Given the description of an element on the screen output the (x, y) to click on. 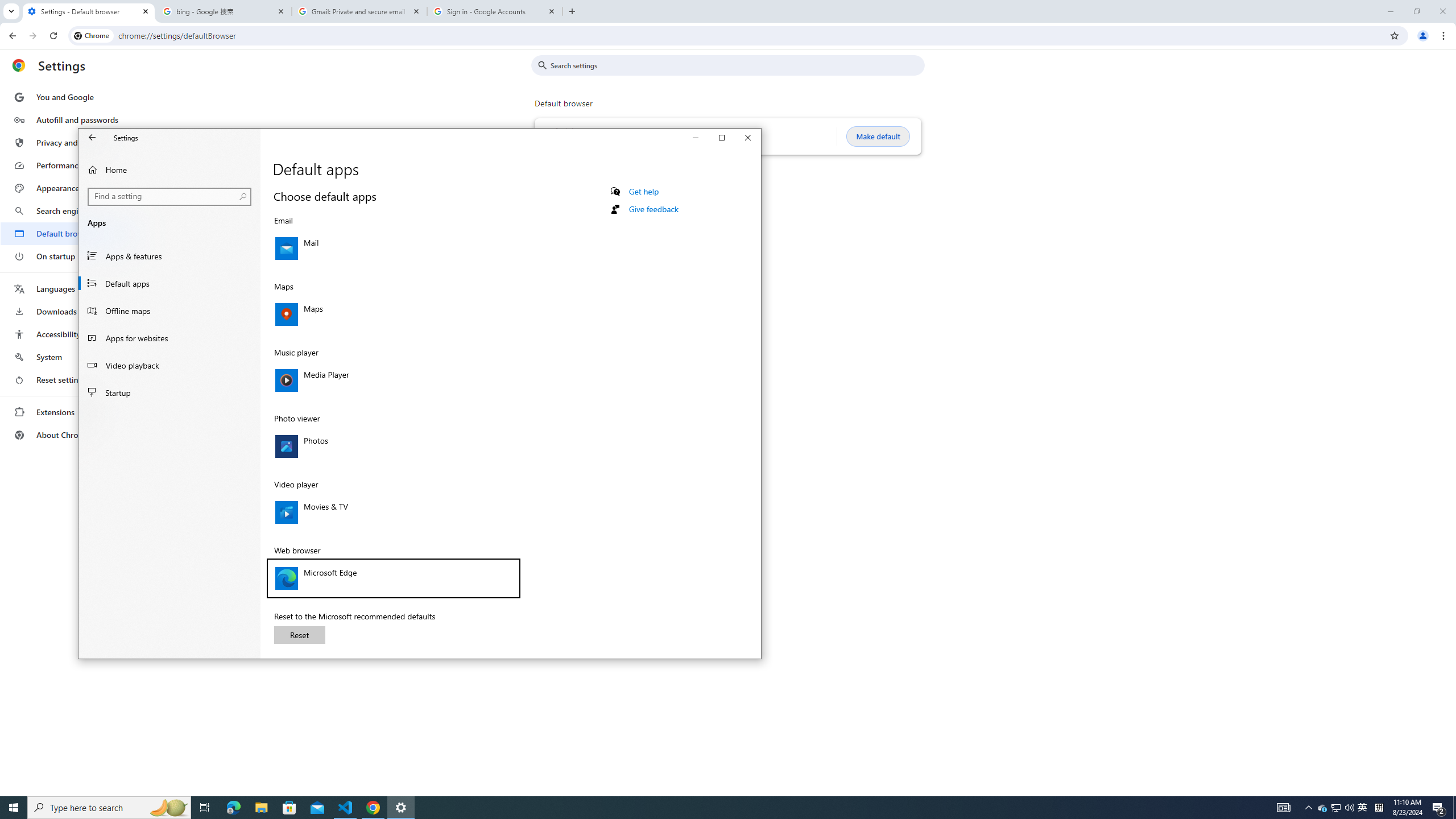
Settings - Default browser (88, 11)
Maps, Maps (392, 314)
Task View (204, 807)
Maximize Settings (722, 137)
Start (13, 807)
Photo viewer, Photos (392, 446)
Type here to search (108, 807)
Class: Image (286, 578)
You and Google (70, 96)
Sign in - Google Accounts (494, 11)
